Given the description of an element on the screen output the (x, y) to click on. 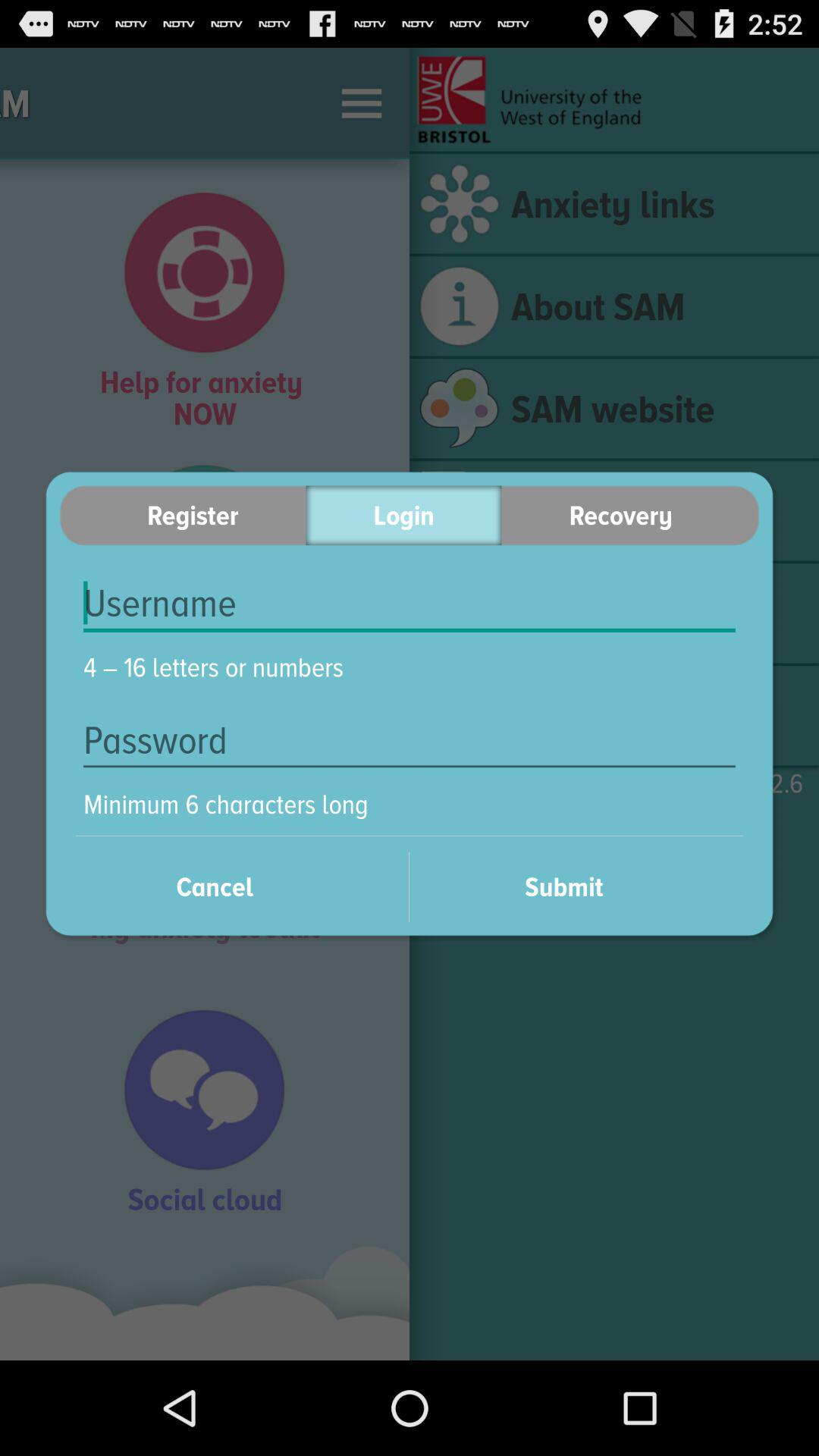
open the icon below 4 16 letters (409, 740)
